Given the description of an element on the screen output the (x, y) to click on. 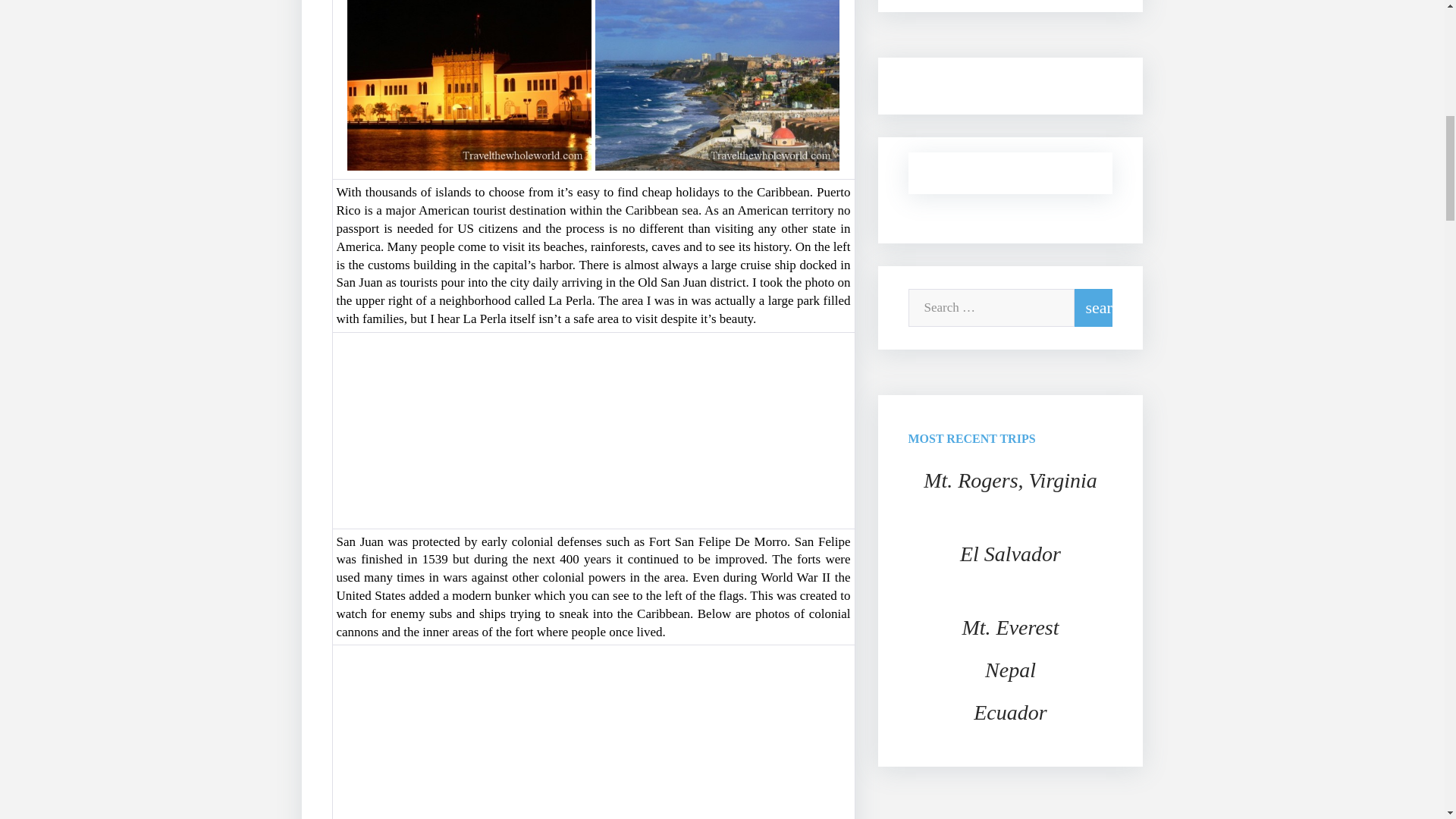
Inside San Felipe (717, 734)
San Felipe  (469, 427)
Cannons (469, 734)
San Felipe (717, 427)
San Juan's Custom Building (469, 85)
La Perla (717, 85)
